Given the description of an element on the screen output the (x, y) to click on. 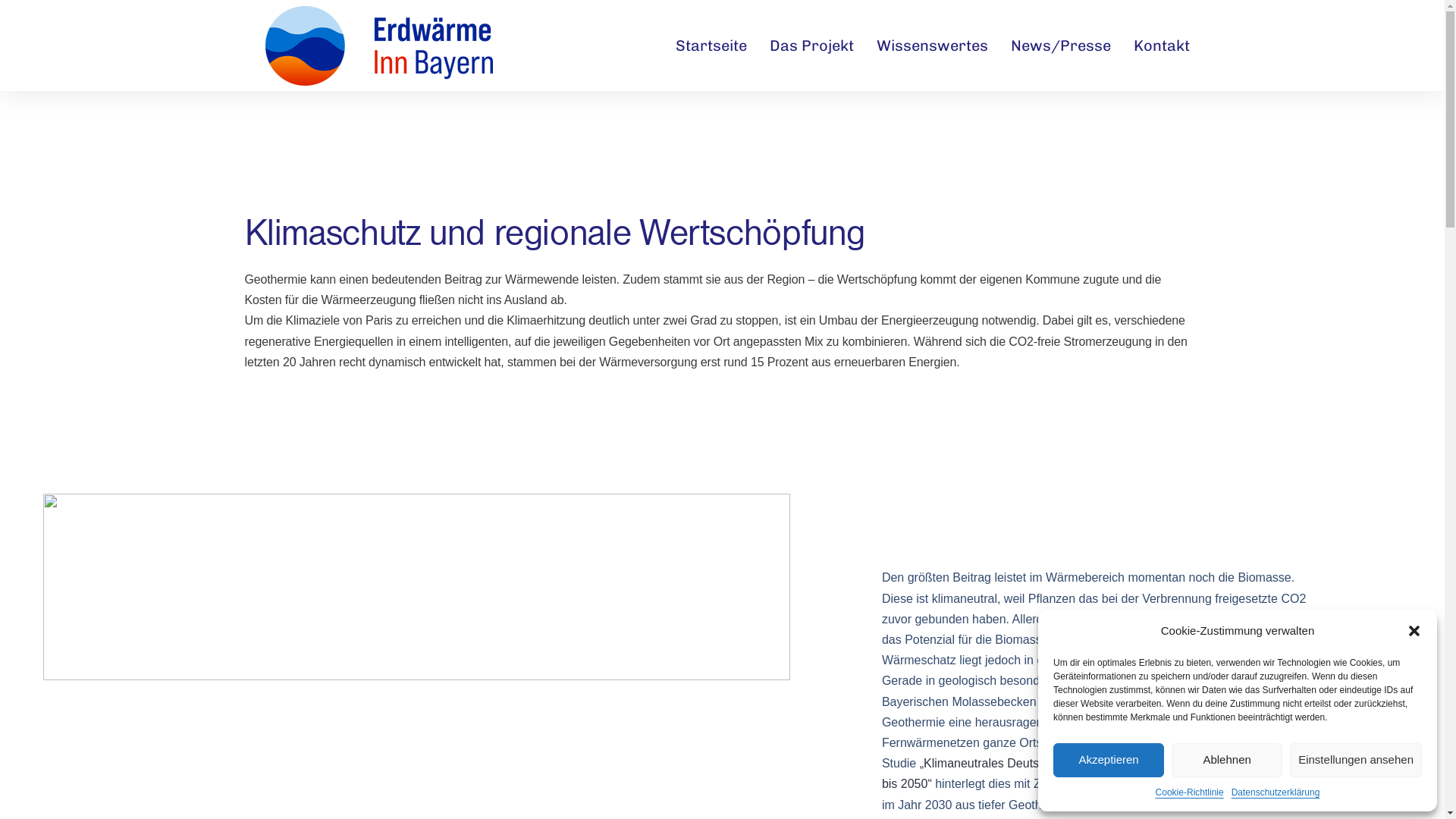
Das Projekt Element type: text (811, 45)
Wissenswertes Element type: text (932, 45)
Kontakt Element type: text (1161, 45)
Einstellungen ansehen Element type: text (1355, 760)
Akzeptieren Element type: text (1108, 760)
Startseite Element type: text (711, 45)
Cookie-Richtlinie Element type: text (1189, 792)
News/Presse Element type: text (1060, 45)
Ablehnen Element type: text (1226, 760)
